Given the description of an element on the screen output the (x, y) to click on. 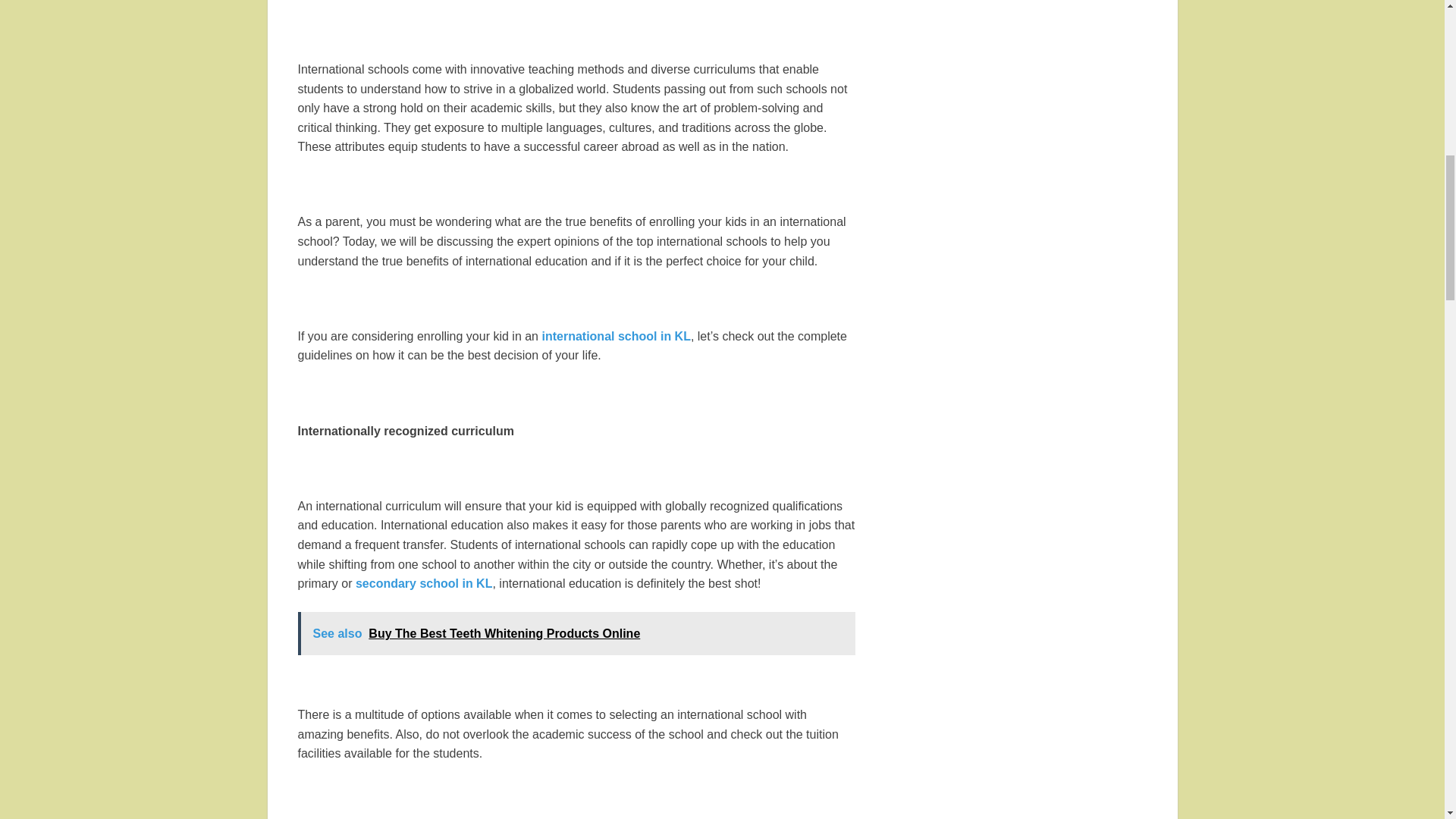
international school in KL (615, 336)
secondary school in KL (423, 583)
See also  Buy The Best Teeth Whitening Products Online (575, 633)
